Given the description of an element on the screen output the (x, y) to click on. 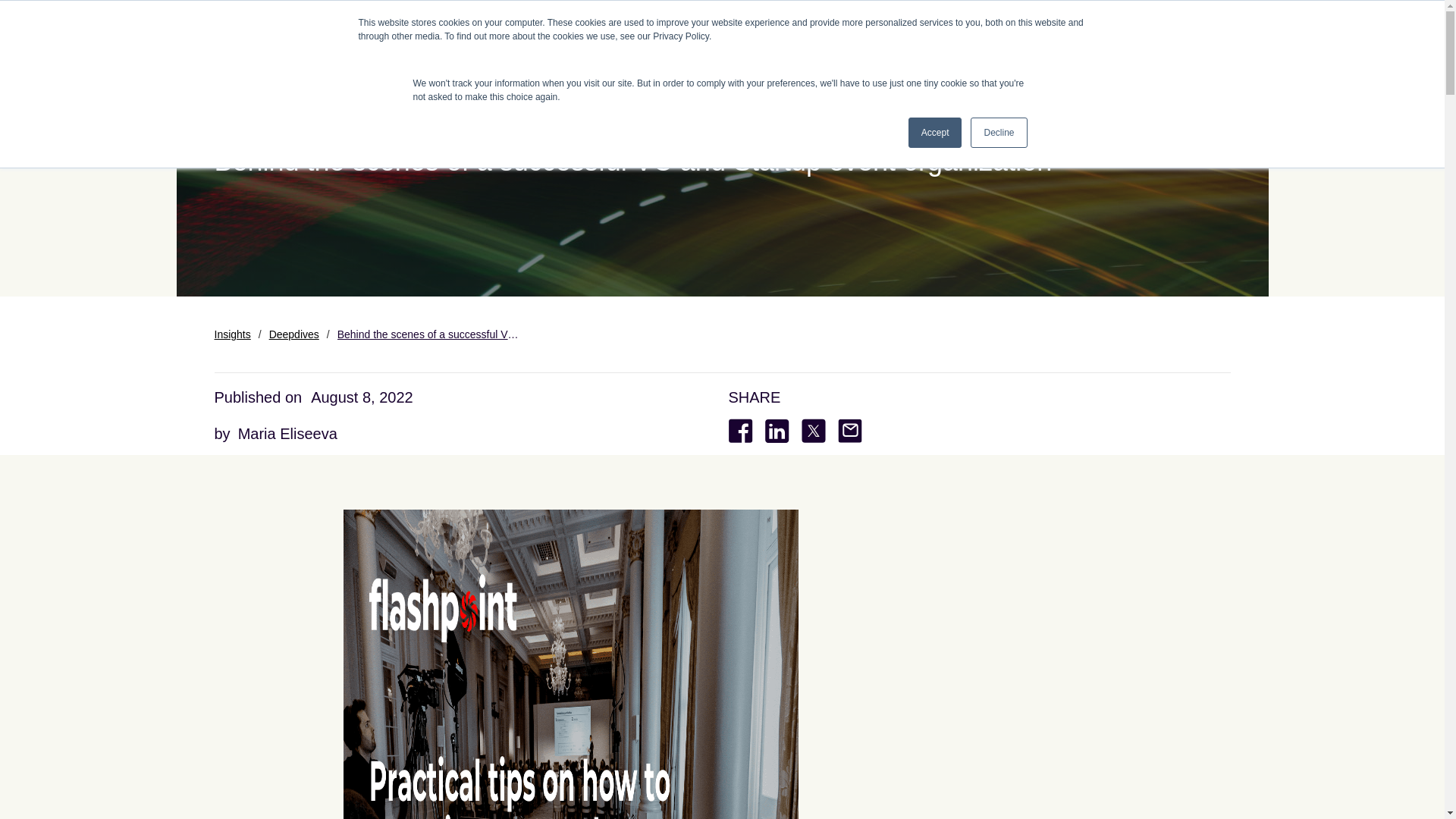
Funds (830, 27)
Decline (998, 132)
Portfolio (777, 27)
Insights (232, 334)
Investor Login (1170, 26)
Deepdives (293, 334)
Accept (935, 132)
Initiatives (994, 27)
Team (939, 27)
